Given the description of an element on the screen output the (x, y) to click on. 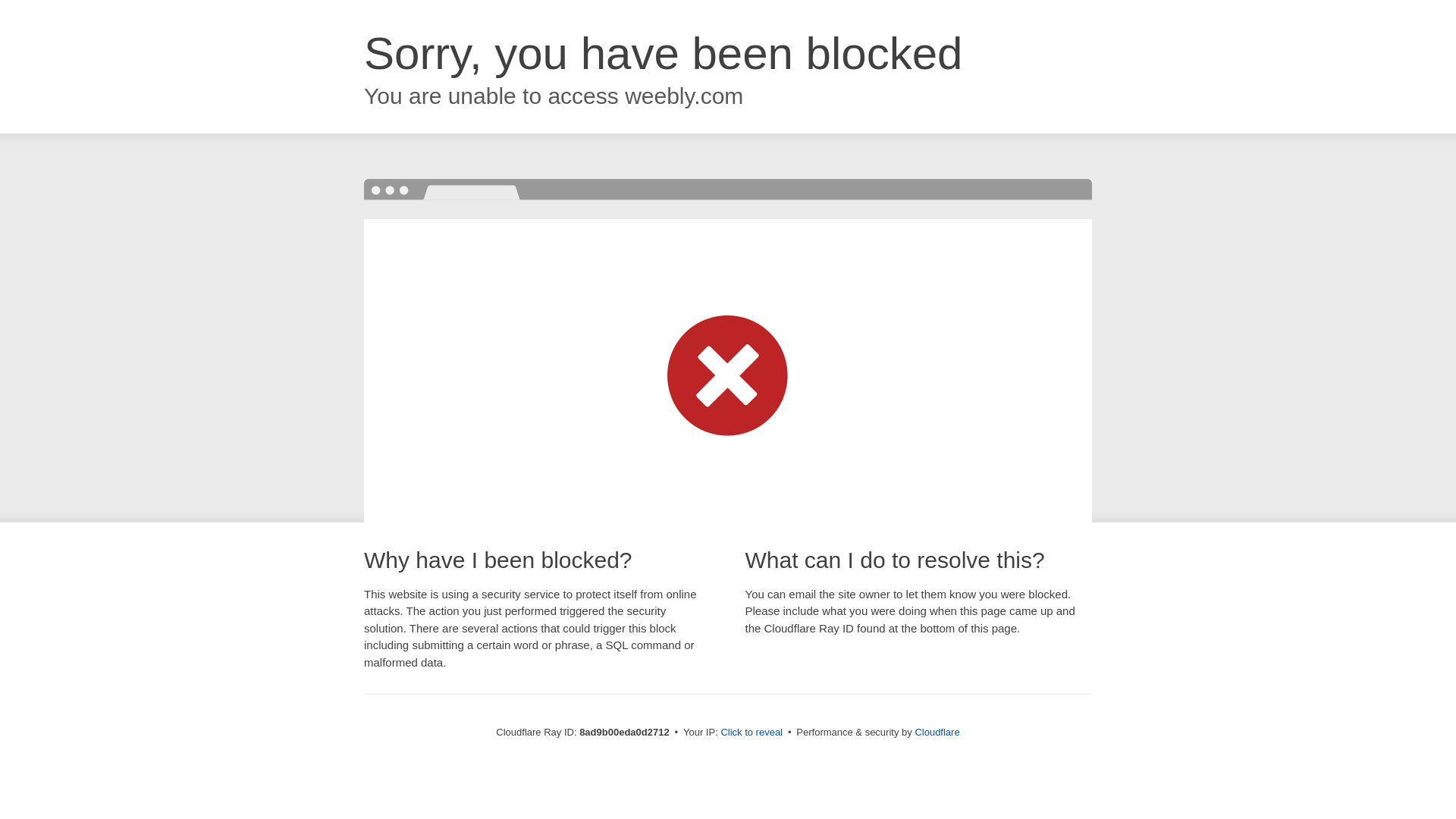
Click to reveal (751, 732)
Cloudflare (936, 731)
